Given the description of an element on the screen output the (x, y) to click on. 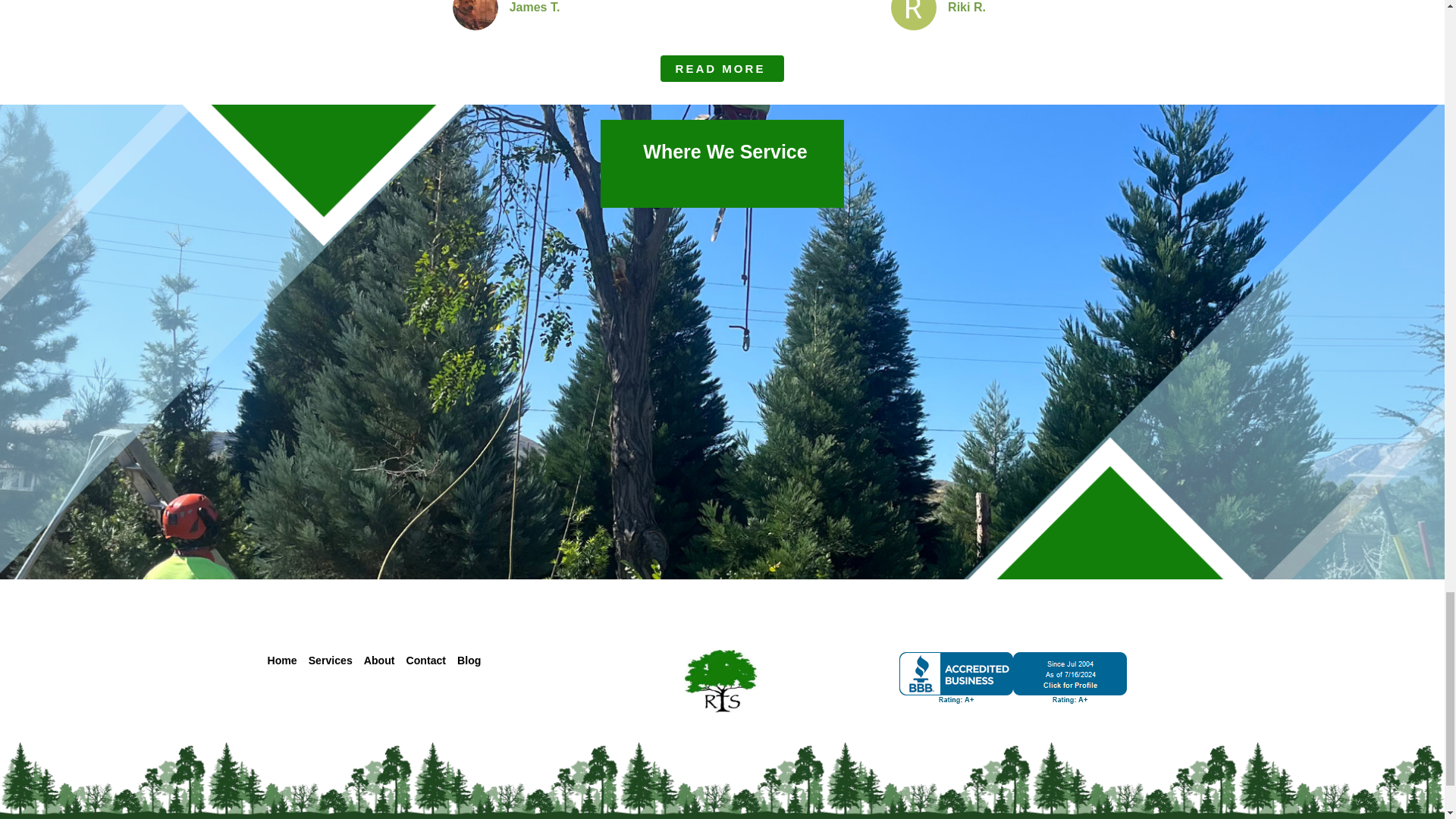
READ MORE (722, 68)
